Given the description of an element on the screen output the (x, y) to click on. 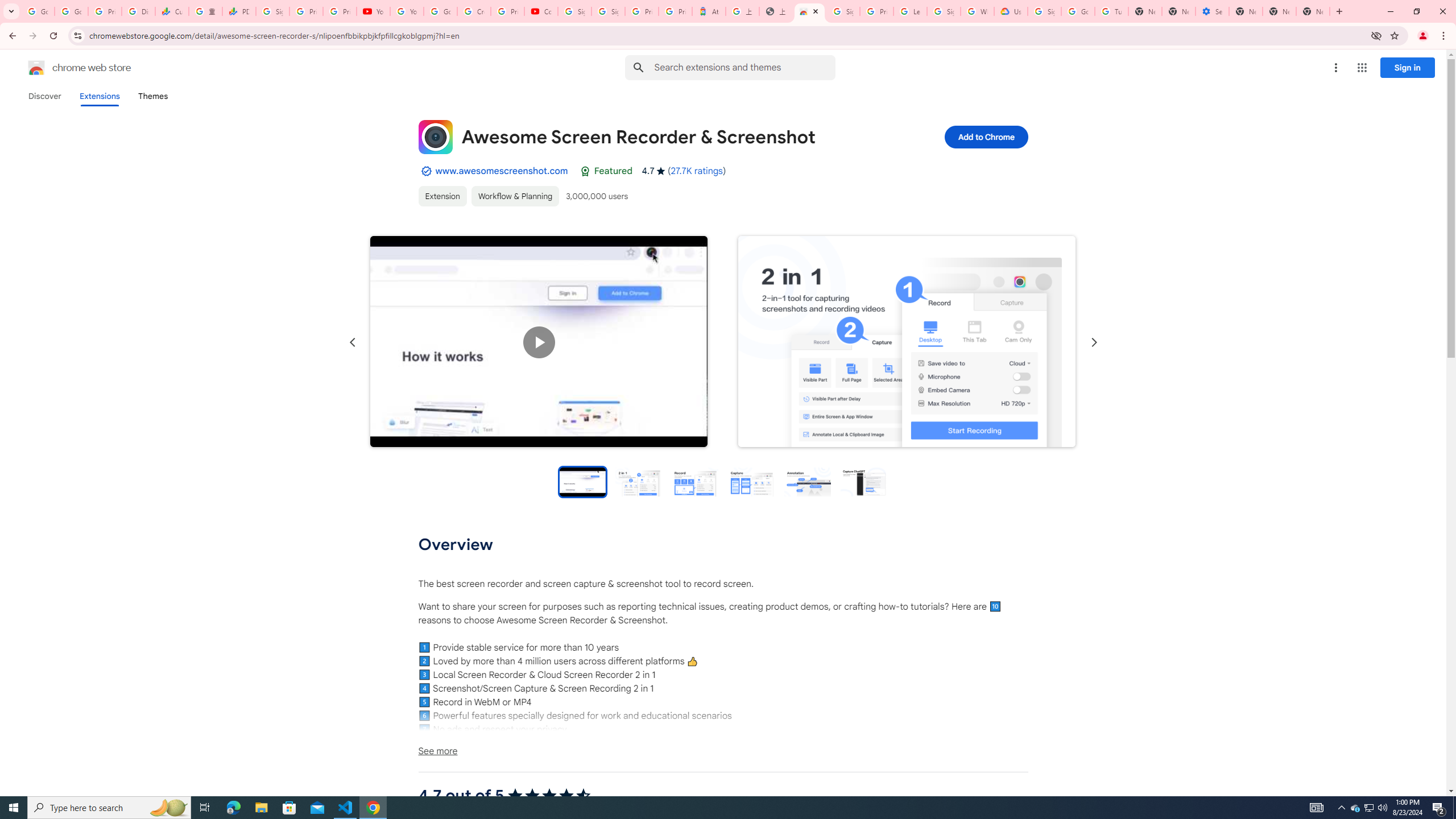
YouTube (372, 11)
New Tab (1246, 11)
Add to Chrome (985, 136)
Google Workspace Admin Community (37, 11)
Item media 2 screenshot (906, 341)
Currencies - Google Finance (171, 11)
Preview slide 3 (694, 481)
Create your Google Account (474, 11)
Preview slide 6 (863, 481)
